Given the description of an element on the screen output the (x, y) to click on. 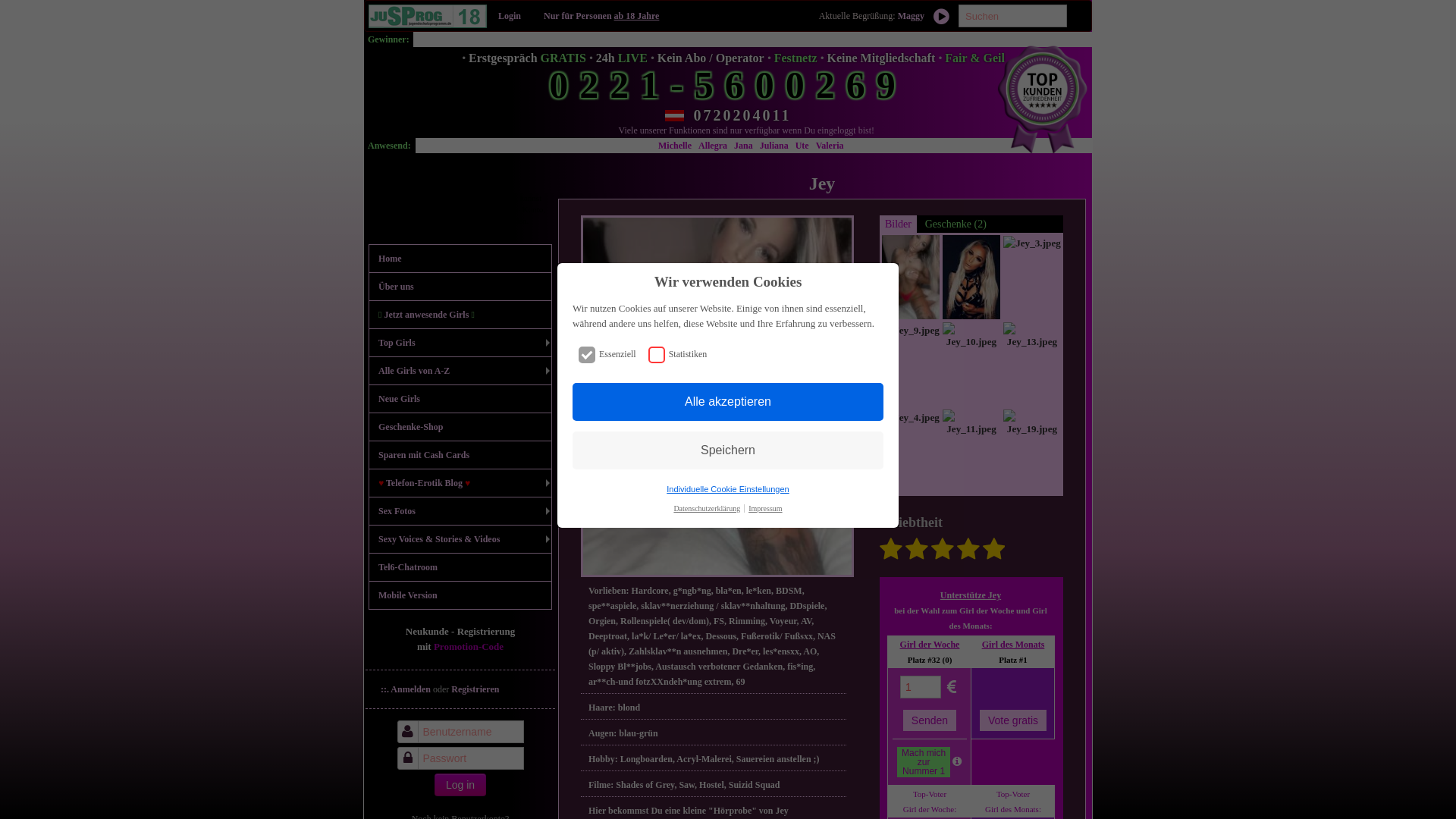
::. Anmelden Element type: text (405, 689)
Log in Element type: text (460, 784)
Alle Girls von A-Z Element type: text (460, 370)
Neukunde - Registrierung
mit Promotion-Code Element type: text (460, 646)
Speichern Element type: text (727, 450)
Girl des Monats
Platz #1 Element type: text (1013, 652)
Neue Girls Element type: text (460, 398)
Tel-Sex.cc Element type: hover (409, 92)
  Element type: text (409, 92)
Girl der Woche
Platz #32 (0) Element type: text (930, 652)
Vote gratis Element type: text (1012, 720)
Bilder Element type: text (897, 223)
Valeria Element type: text (1032, 145)
Sparen mit Cash Cards Element type: text (460, 454)
Alle akzeptieren Element type: text (727, 401)
Mobile Version Element type: text (460, 594)
Ute Element type: text (1005, 145)
Senden Element type: text (929, 720)
Login Element type: text (509, 15)
Sex Fotos Element type: text (460, 510)
Geschenke-Shop Element type: text (460, 426)
Michelle Element type: text (880, 145)
Individuelle Cookie Einstellungen Element type: text (727, 488)
Jana Element type: text (947, 145)
Sexy Voices & Stories & Videos Element type: text (460, 538)
Geschenke (2) Element type: text (955, 223)
Allegra Element type: text (917, 145)
Juliana Element type: text (977, 145)
Registrieren Element type: text (474, 689)
Maggy Element type: text (910, 15)
Home Element type: text (460, 258)
Jugendschutzprogramm Element type: hover (427, 16)
Mach mich zur
Nummer 1 Element type: text (923, 761)
Top Girls Element type: text (460, 342)
Tel6-Chatroom Element type: text (460, 566)
Impressum Element type: text (764, 508)
